Given the description of an element on the screen output the (x, y) to click on. 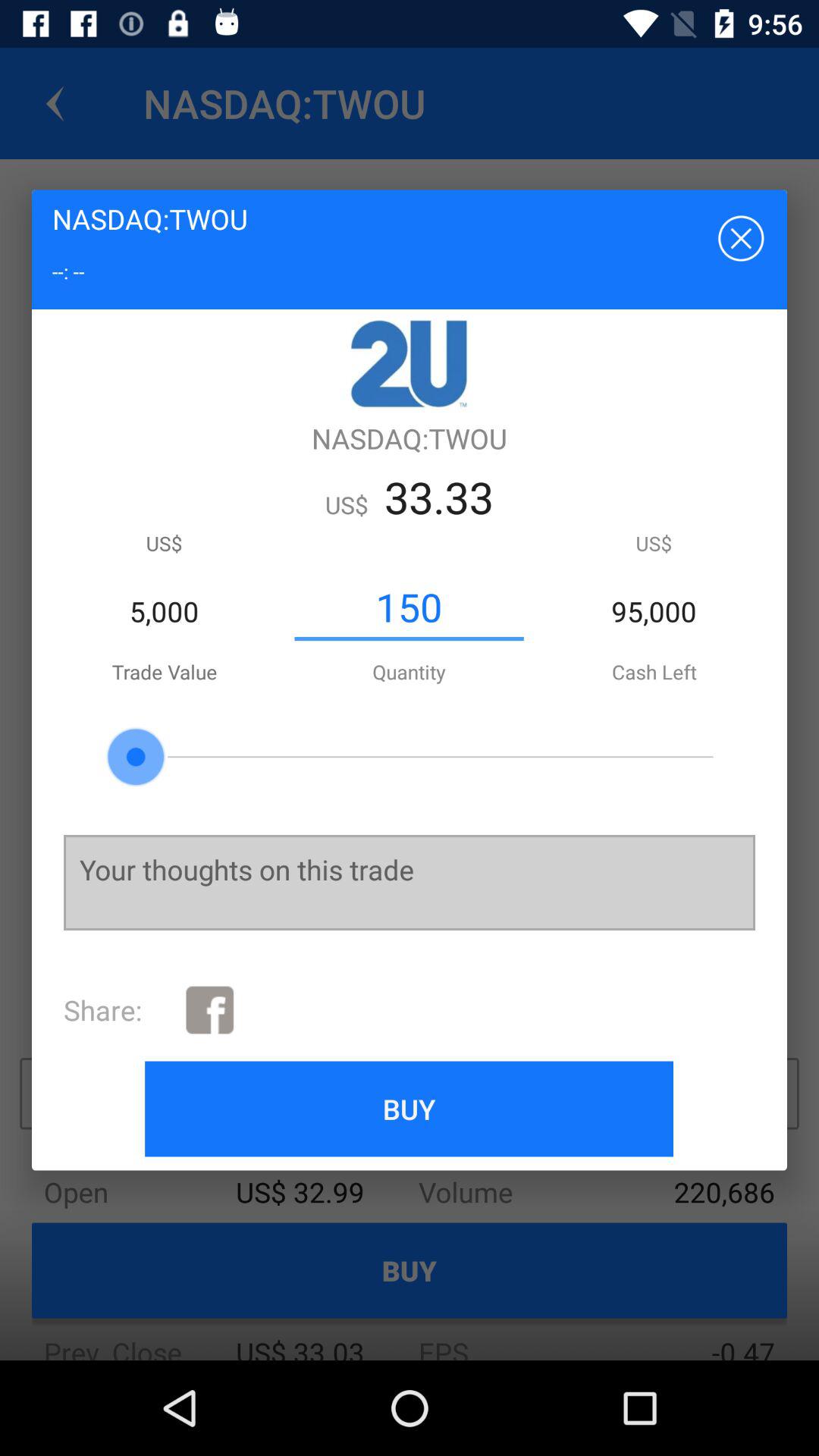
open the item below us$ (408, 607)
